Given the description of an element on the screen output the (x, y) to click on. 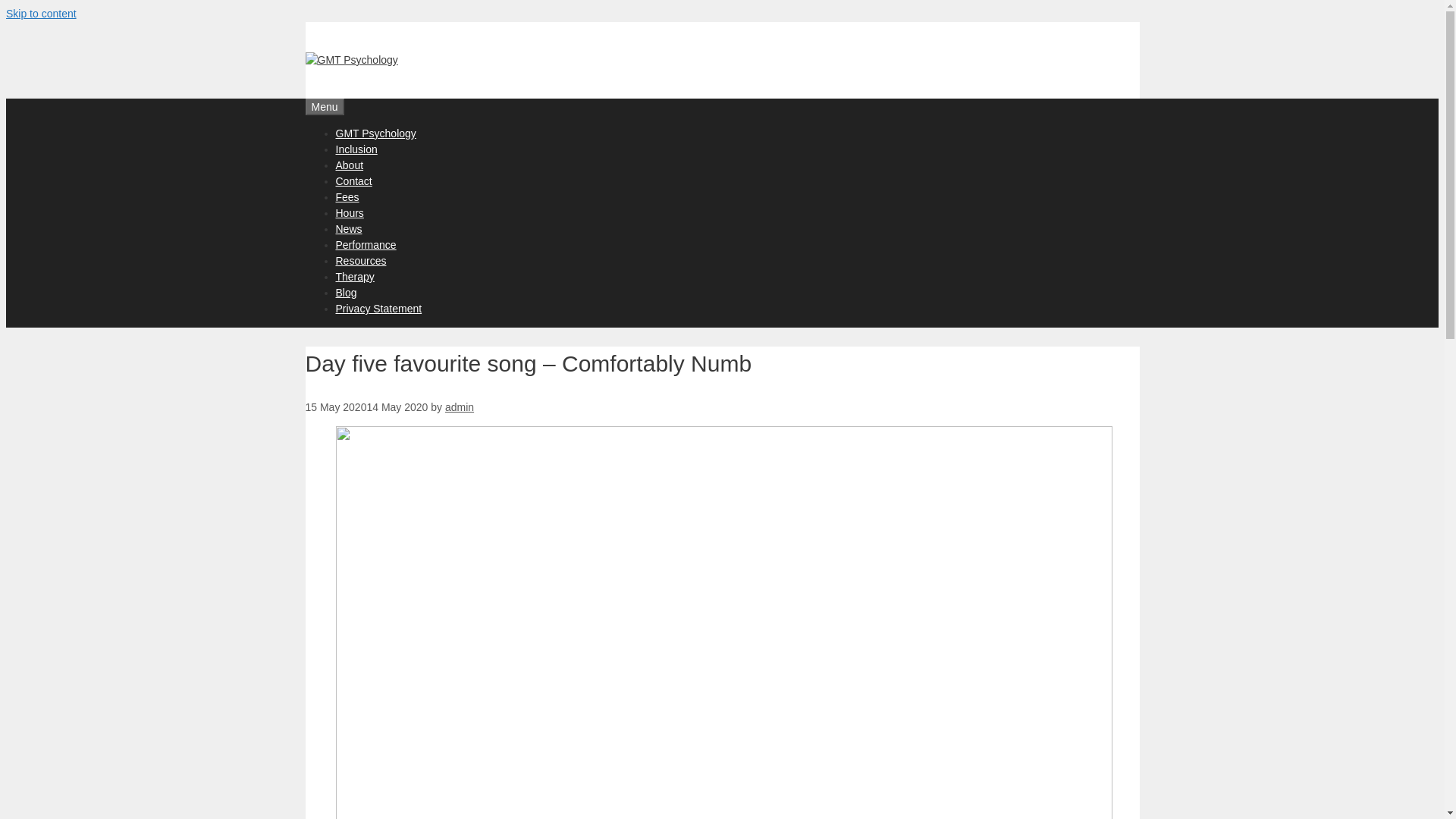
Privacy Statement (378, 308)
Contact (352, 181)
News (347, 228)
Fees (346, 196)
GMT Psychology (350, 59)
GMT Psychology (350, 60)
Performance (365, 244)
Hours (348, 213)
Menu (323, 106)
Blog (345, 292)
View all posts by admin (459, 407)
Skip to content (41, 13)
Therapy (354, 276)
GMT Psychology (374, 133)
About (348, 164)
